Given the description of an element on the screen output the (x, y) to click on. 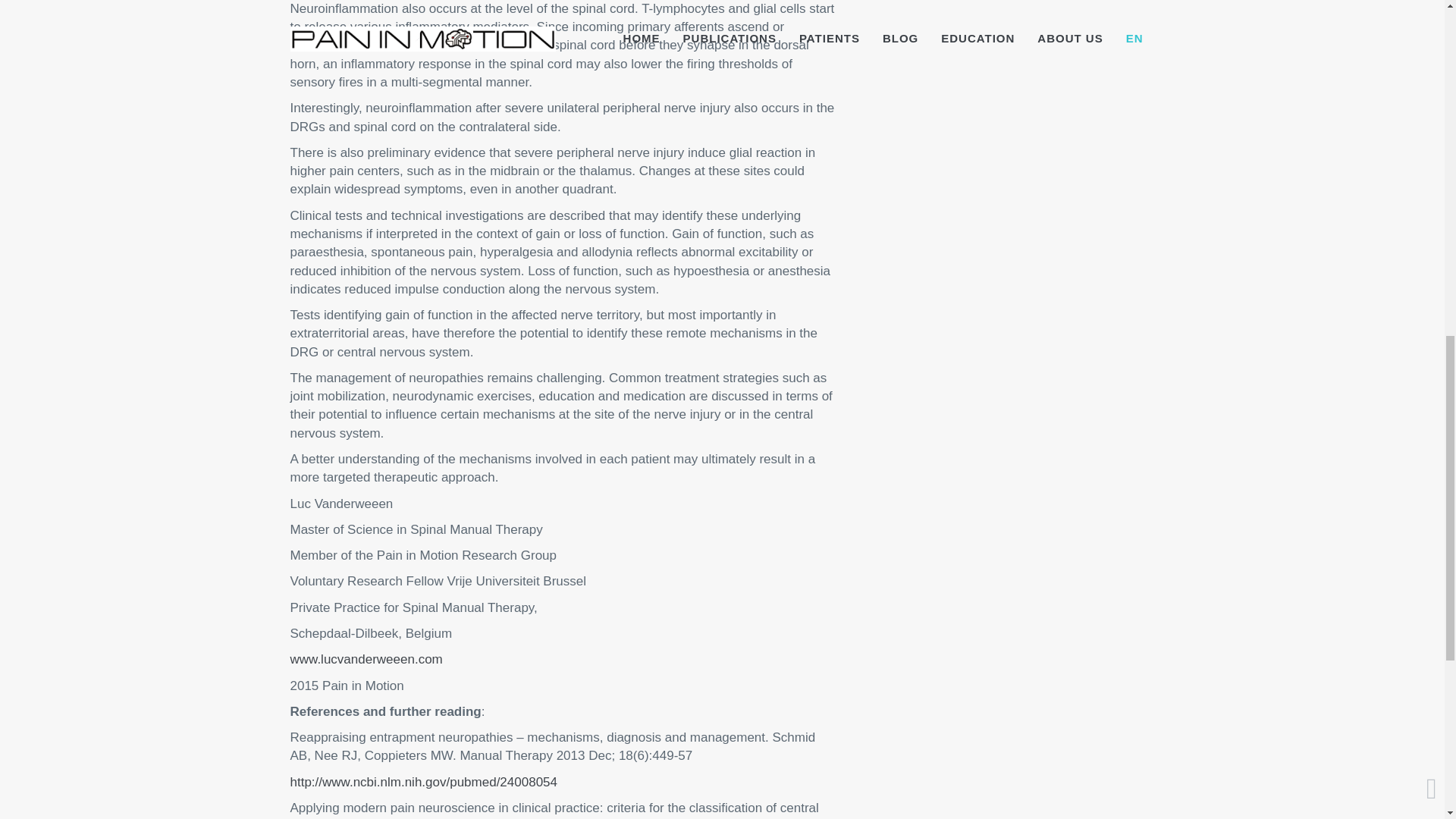
www.lucvanderweeen.com (365, 658)
